Given the description of an element on the screen output the (x, y) to click on. 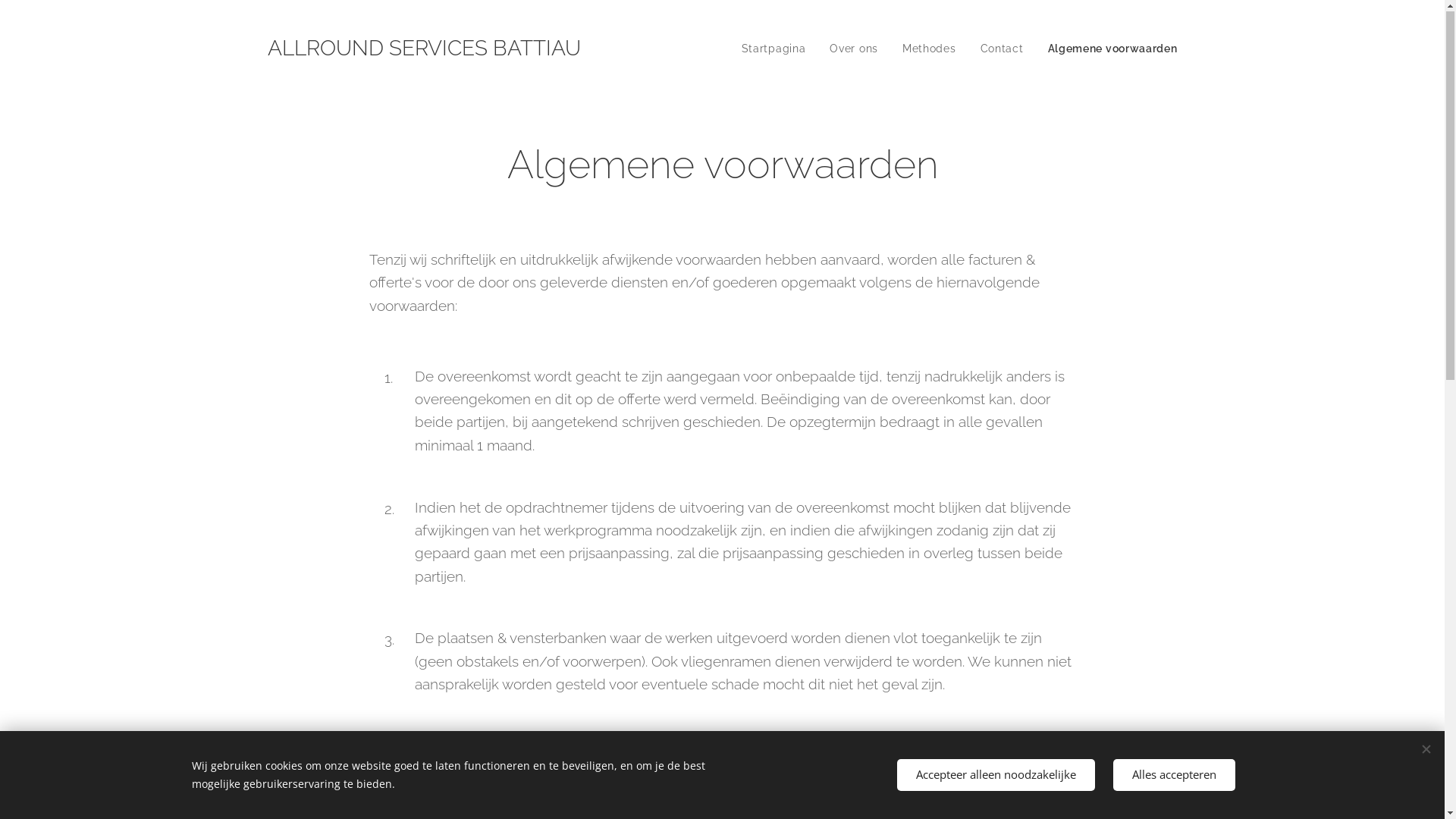
Methodes Element type: text (929, 49)
Alles accepteren Element type: text (1174, 774)
Contact Element type: text (1001, 49)
Over ons Element type: text (853, 49)
Startpagina Element type: text (777, 49)
ALLROUND SERVICES BATTIAU Element type: text (424, 49)
Algemene voorwaarden Element type: text (1106, 49)
Accepteer alleen noodzakelijke Element type: text (995, 774)
